Given the description of an element on the screen output the (x, y) to click on. 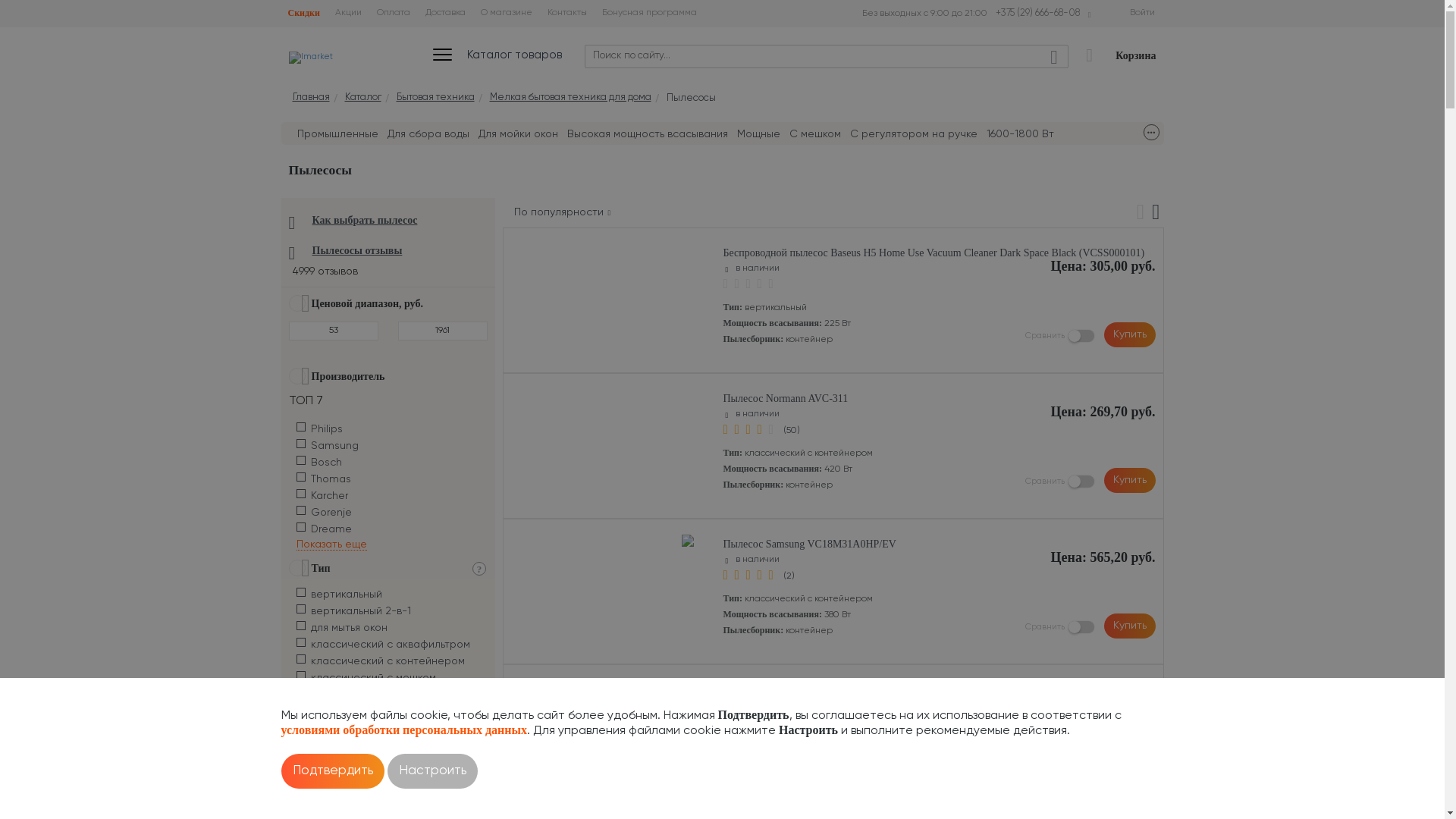
Imarket.by Element type: hover (310, 57)
(50) Element type: text (790, 430)
(100) Element type: text (792, 722)
Samsung Element type: hover (697, 686)
(2) Element type: text (787, 576)
Samsung Element type: hover (697, 540)
